Given the description of an element on the screen output the (x, y) to click on. 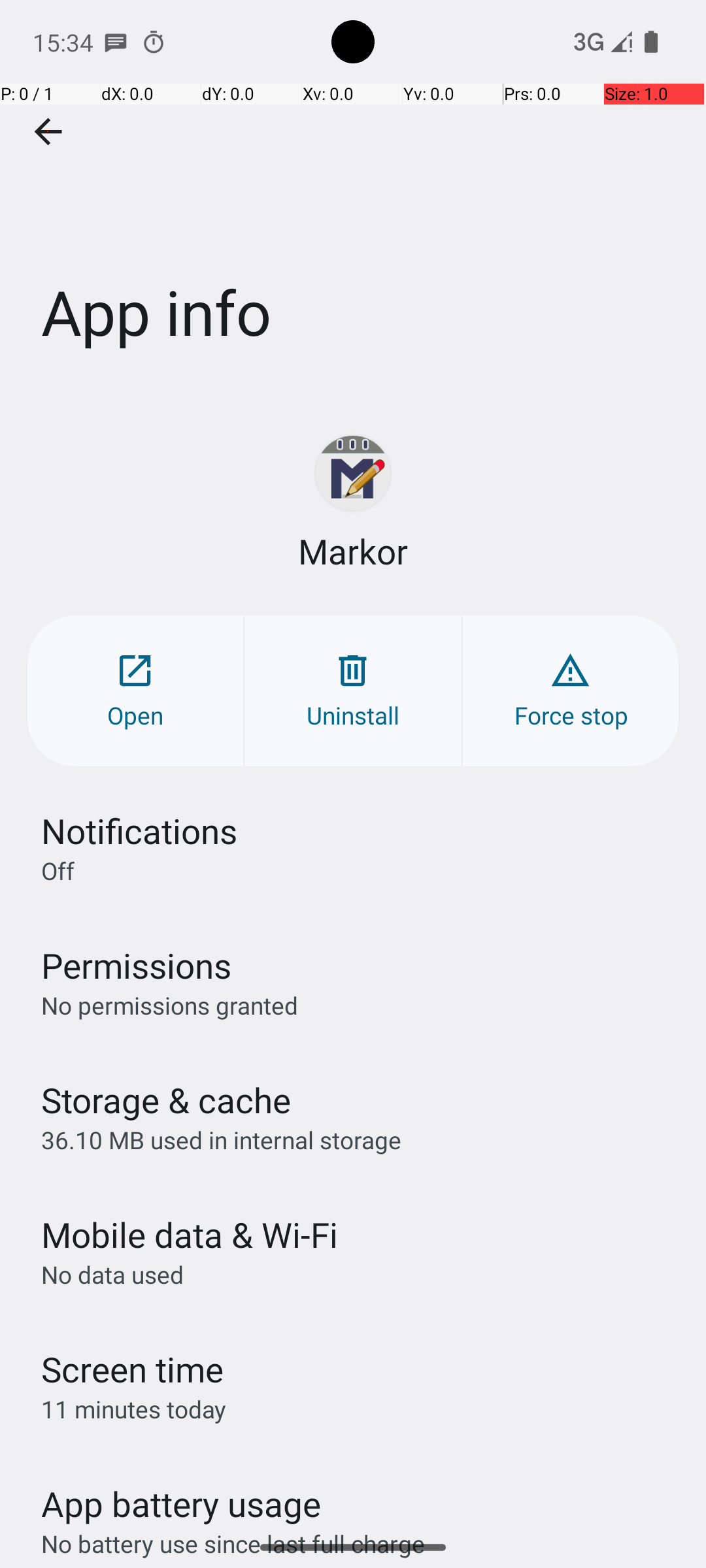
No permissions granted Element type: android.widget.TextView (169, 1004)
36.10 MB used in internal storage Element type: android.widget.TextView (221, 1139)
11 minutes today Element type: android.widget.TextView (133, 1408)
